Given the description of an element on the screen output the (x, y) to click on. 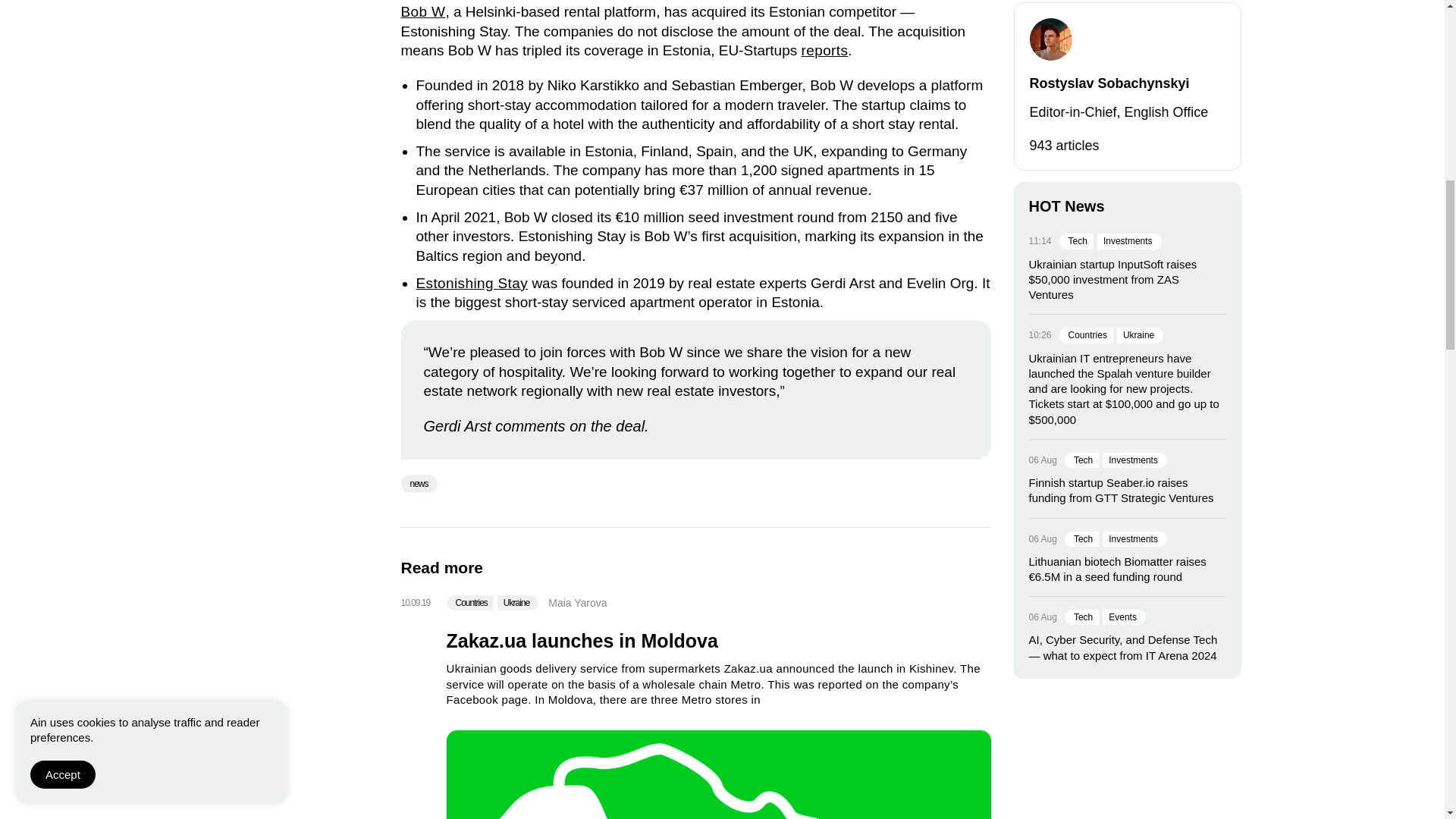
Rostyslav Sobachynskyi (1050, 39)
Zakaz.ua launches in Moldova image (717, 774)
